Given the description of an element on the screen output the (x, y) to click on. 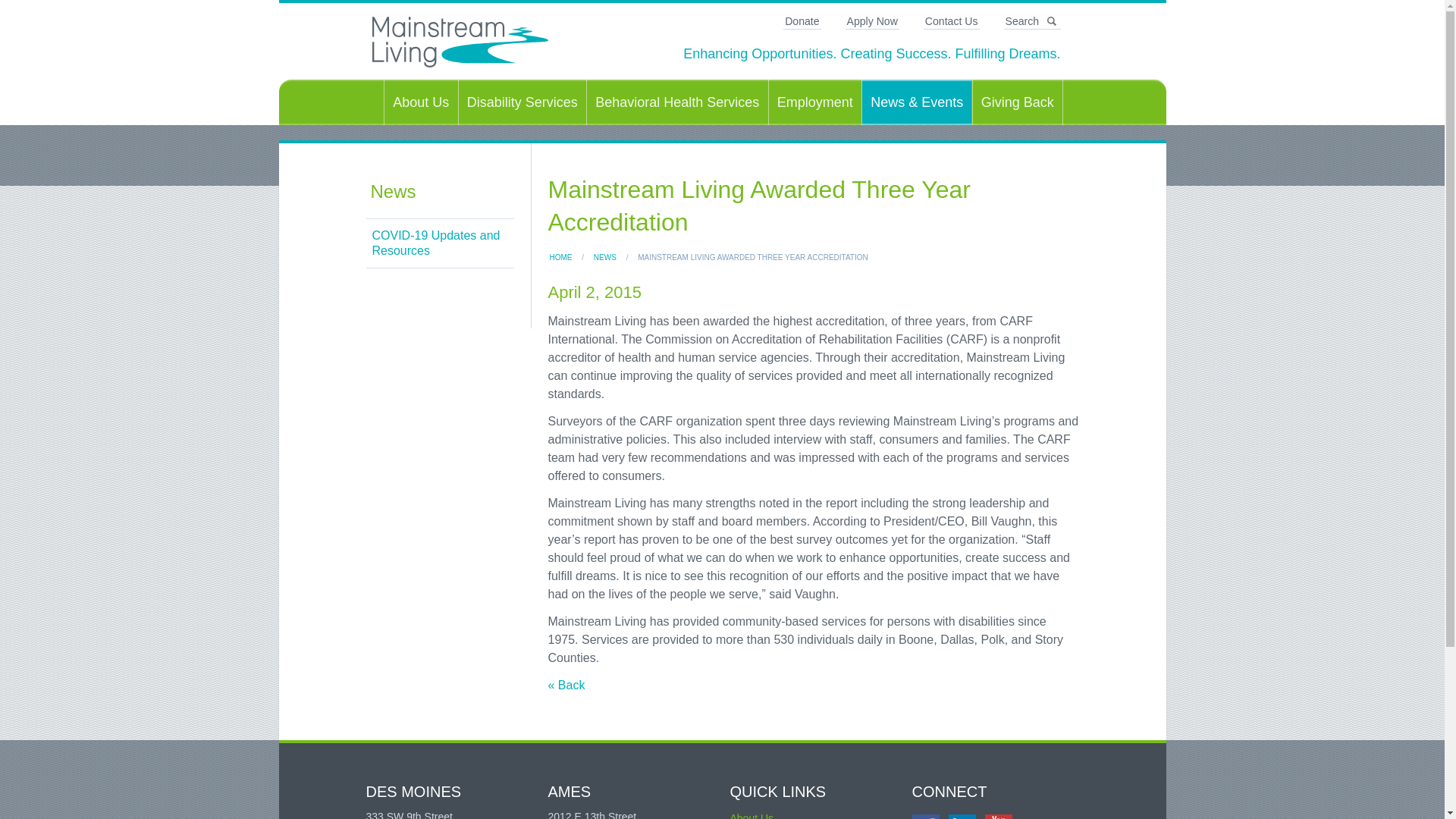
Search (1032, 21)
Donate (802, 21)
Contact Us (951, 21)
Apply Now (872, 21)
Disability Services (522, 102)
About Us (420, 102)
Employment (814, 102)
Behavioral Health Services (676, 102)
